Given the description of an element on the screen output the (x, y) to click on. 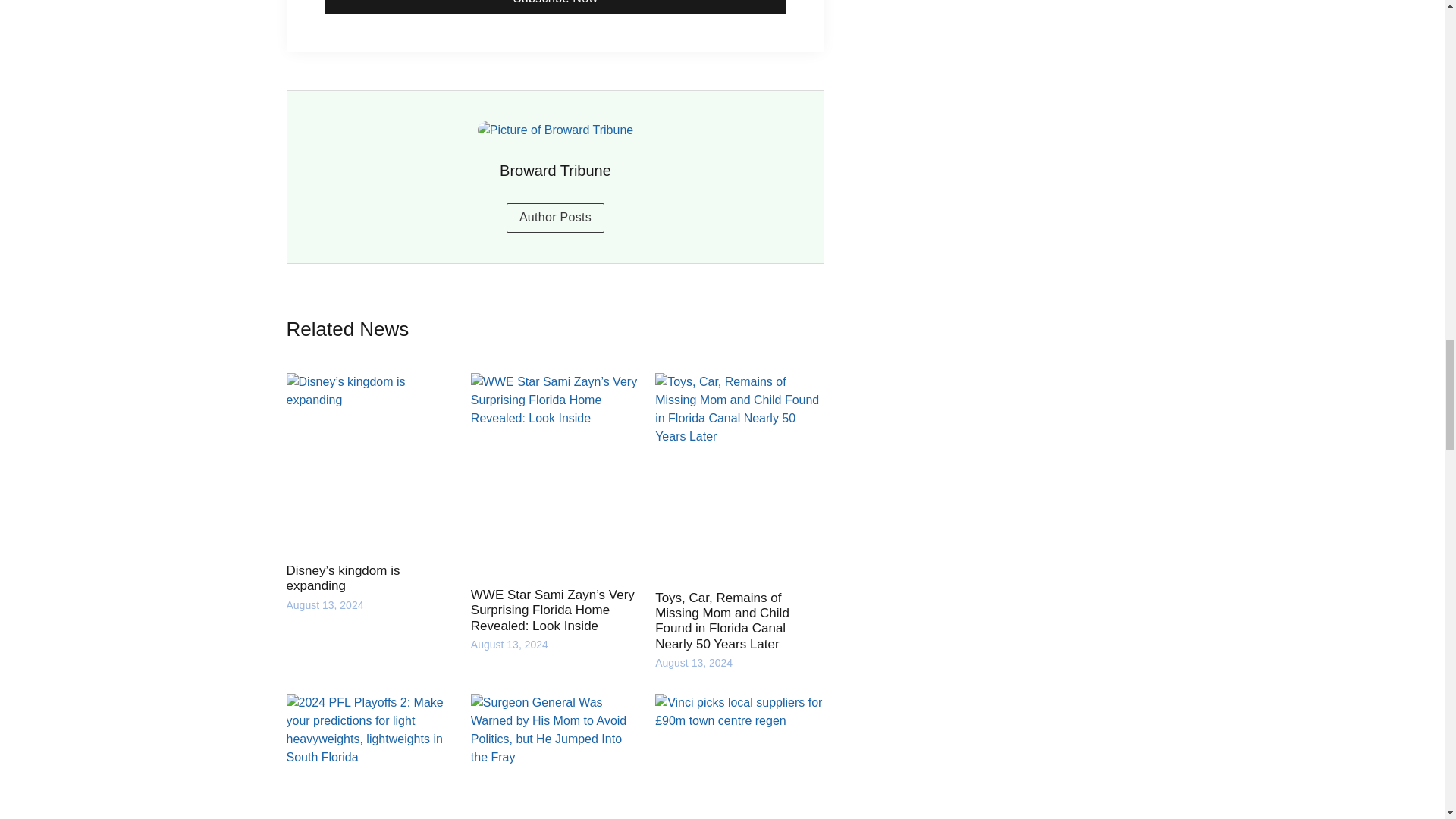
Broward Tribune (555, 170)
Subscribe Now (555, 6)
Author Posts (555, 217)
